Given the description of an element on the screen output the (x, y) to click on. 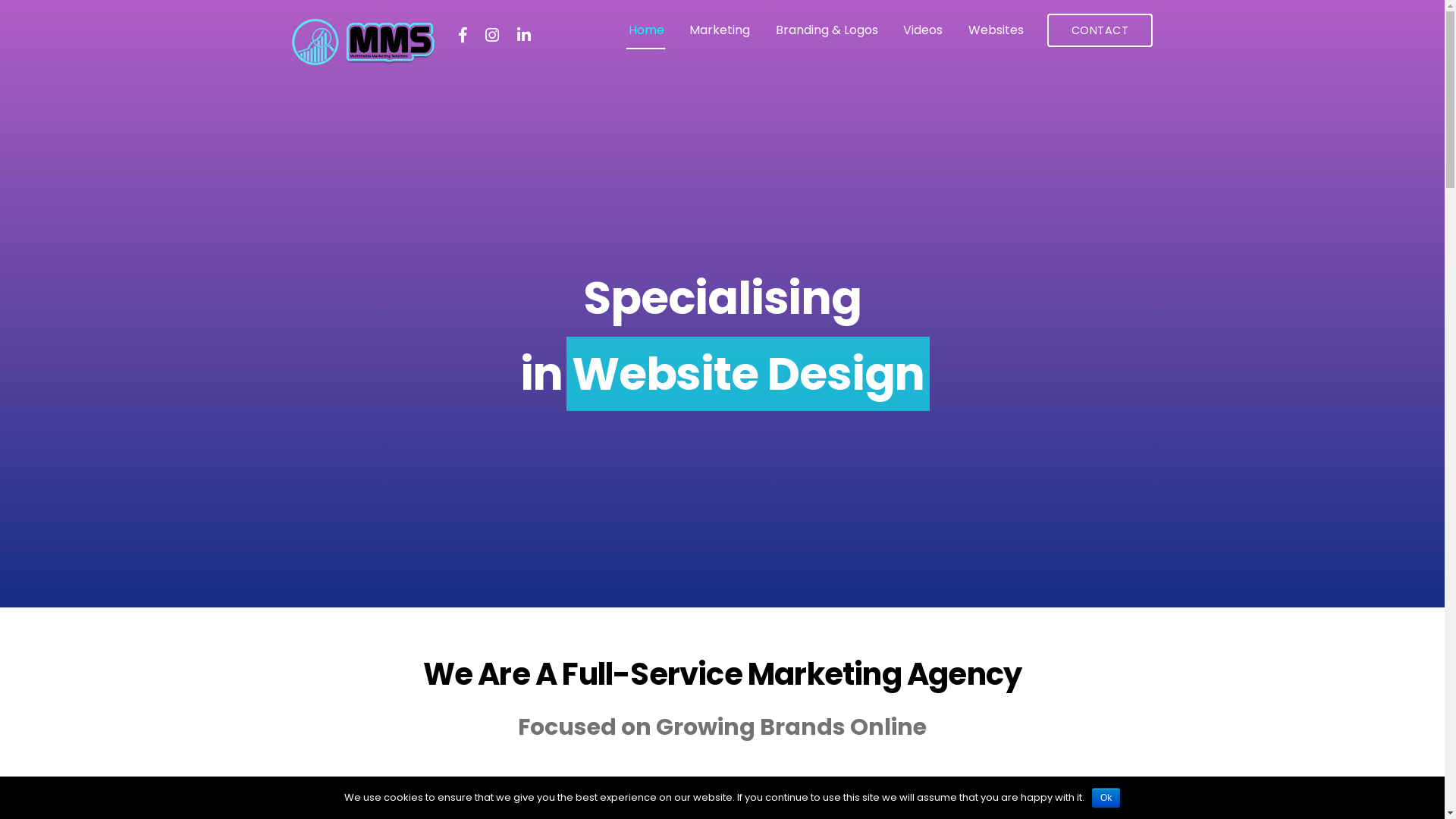
Multimedia Marketing Solutions Element type: hover (357, 61)
CONTACT Element type: text (1099, 29)
Home Element type: text (646, 30)
Branding & Logos Element type: text (826, 30)
Websites Element type: text (995, 30)
Videos Element type: text (922, 30)
Marketing Element type: text (720, 30)
Logo-with-mms-black Element type: hover (357, 42)
Ok Element type: text (1106, 797)
